Given the description of an element on the screen output the (x, y) to click on. 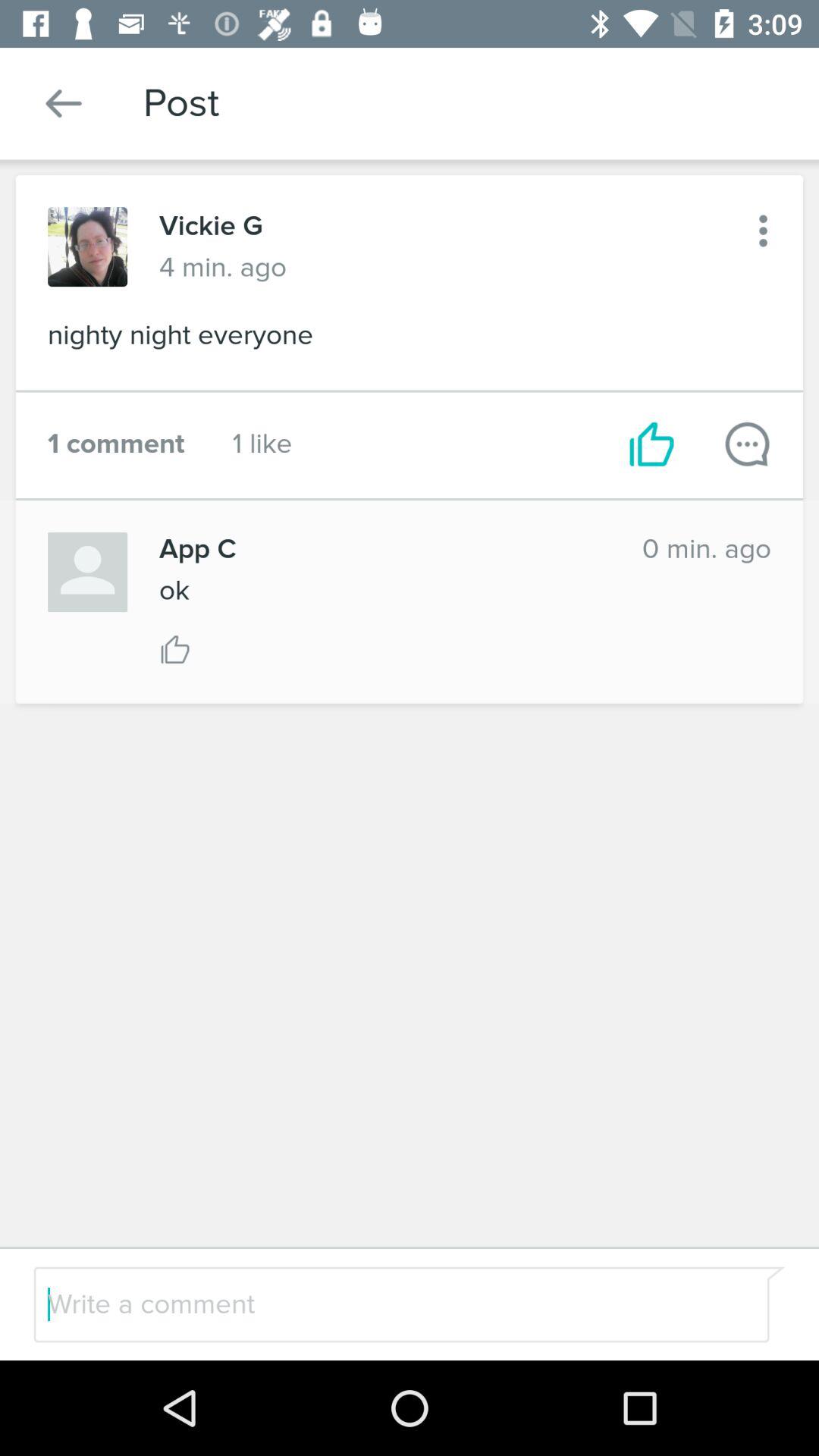
view profile (87, 246)
